Given the description of an element on the screen output the (x, y) to click on. 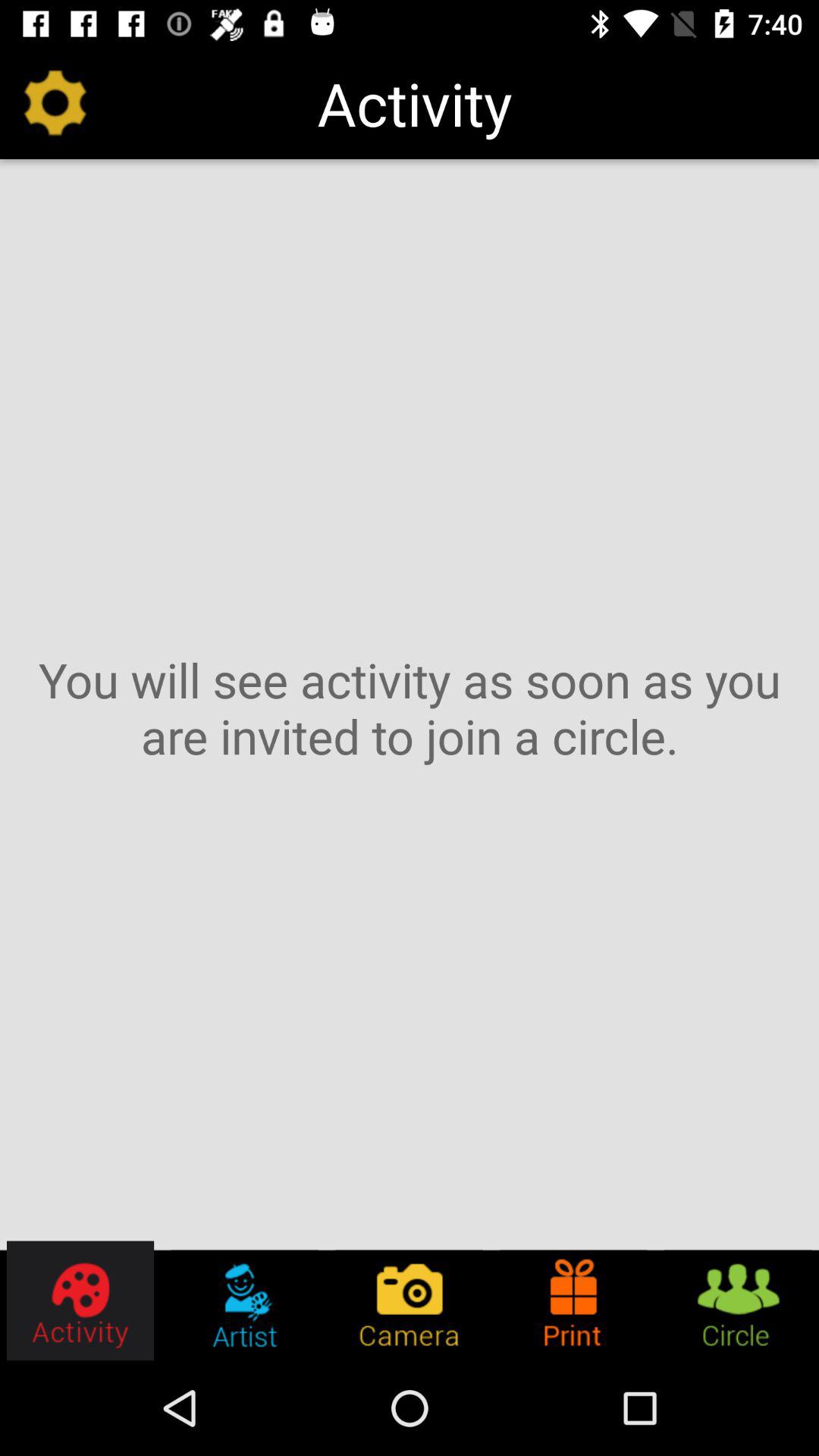
turn off icon below you will see (573, 1300)
